Given the description of an element on the screen output the (x, y) to click on. 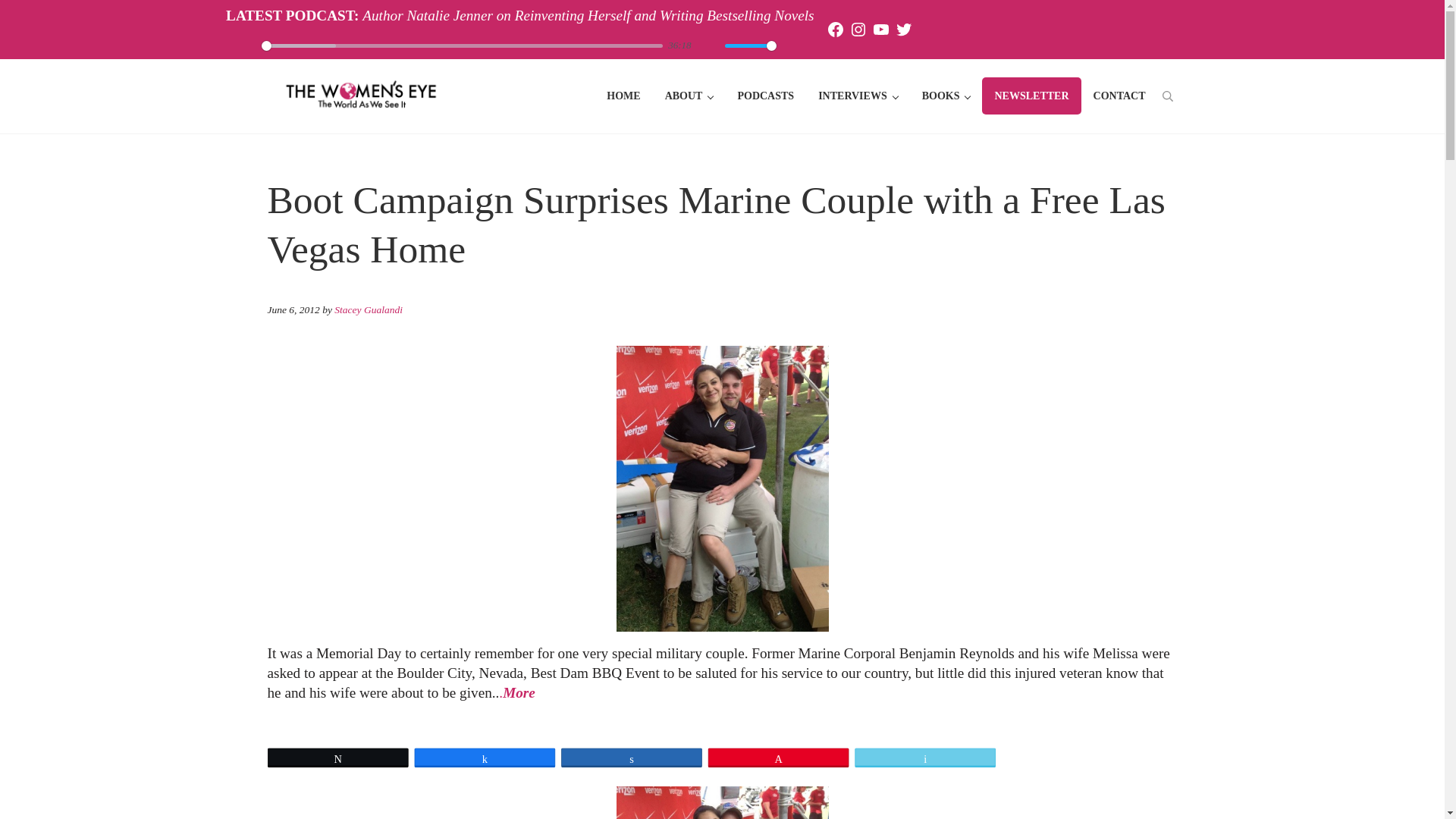
1 (750, 44)
INTERVIEWS (858, 95)
ABOUT (688, 95)
Instagram (857, 29)
HOME (623, 95)
Twitter (903, 29)
YouTube (880, 29)
bootcampaignhomegiveawaycouple-400 (721, 802)
BOOKS (946, 95)
